Given the description of an element on the screen output the (x, y) to click on. 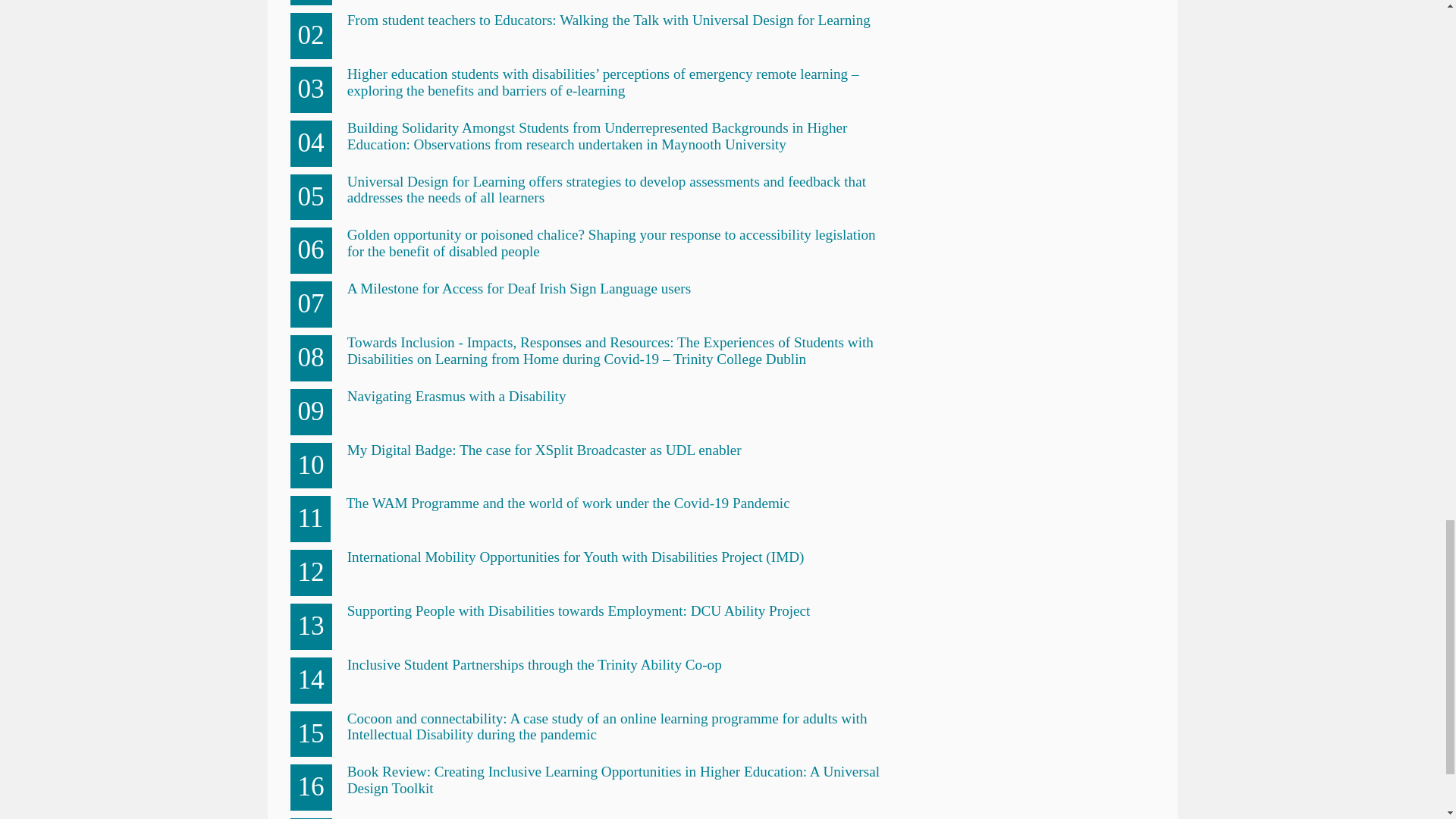
Navigating Erasmus with a Disability (456, 396)
About Issue 12 (391, 818)
